Given the description of an element on the screen output the (x, y) to click on. 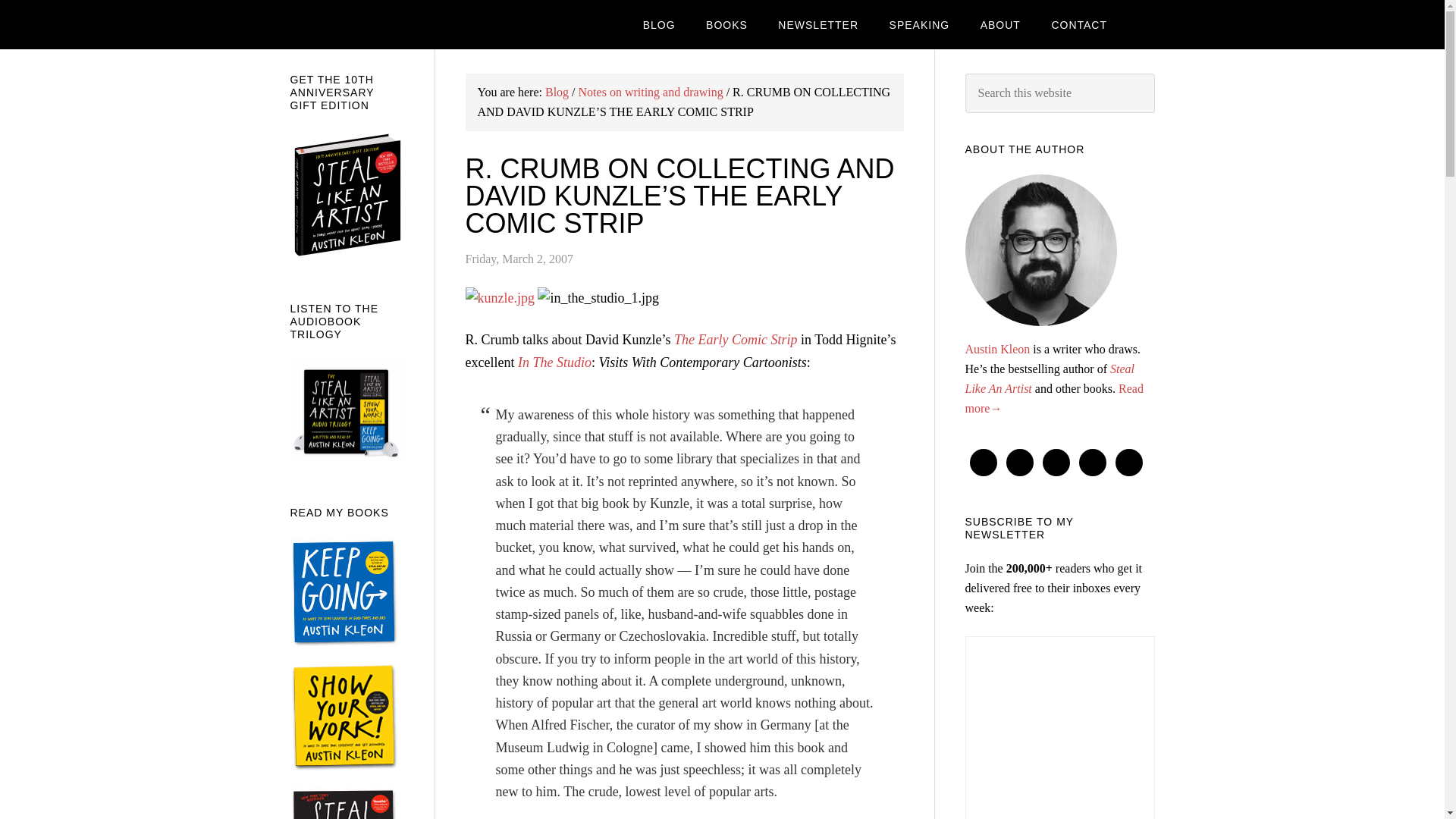
NEWSLETTER (818, 24)
AUSTIN KLEON (410, 24)
In The Studio (554, 362)
ABOUT (999, 24)
Blog (556, 91)
Read my books (727, 24)
Steal Like An Artist (1048, 378)
SPEAKING (919, 24)
BOOKS (727, 24)
kunzle.jpg (499, 297)
Austin Kleon (996, 349)
BLOG (658, 24)
Notes on writing and drawing (650, 91)
